Given the description of an element on the screen output the (x, y) to click on. 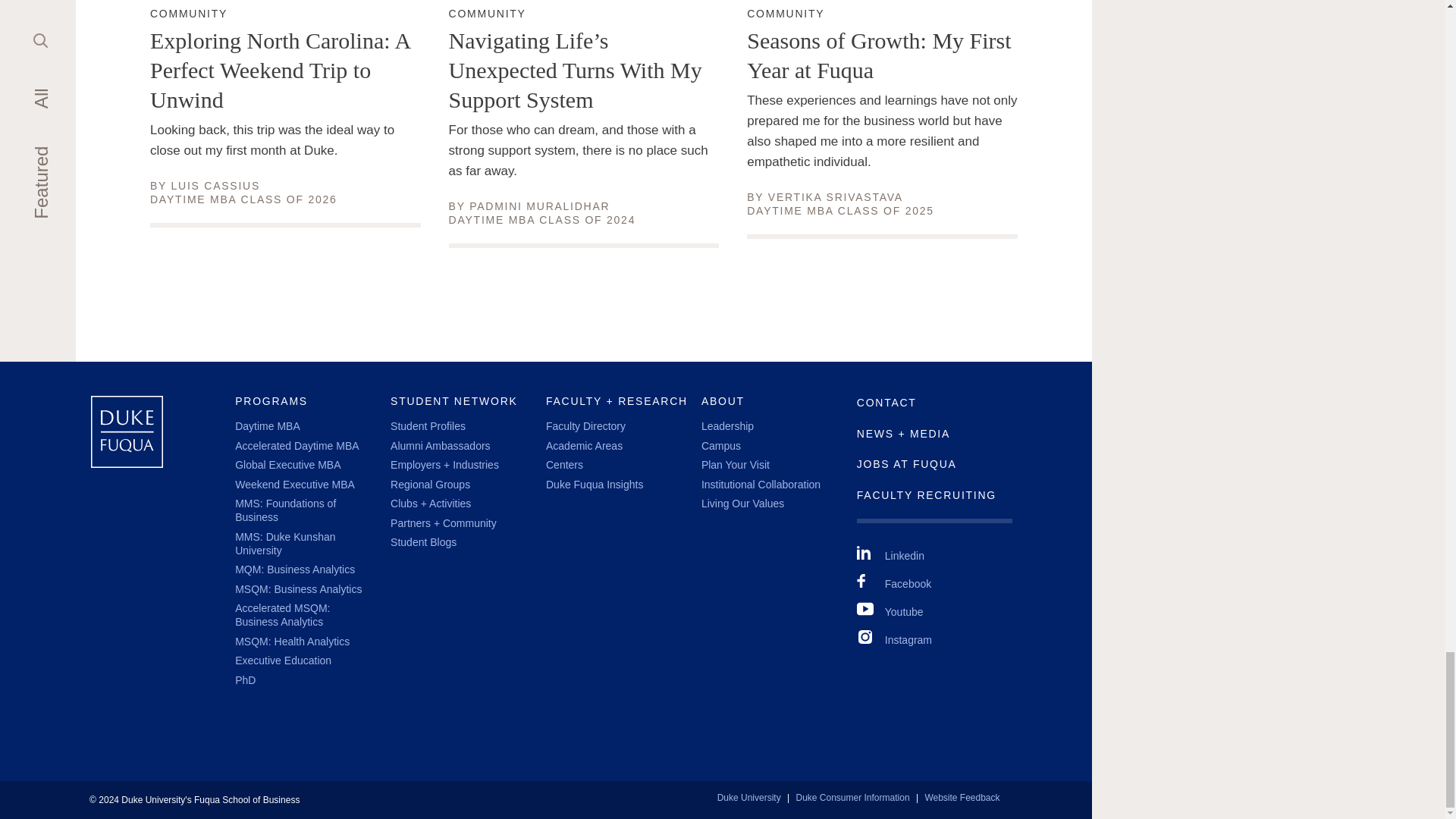
Global Executive MBA (287, 464)
Daytime MBA (539, 205)
MSQM: Business Analytics (266, 426)
Accelerated Daytime MBA (297, 589)
MMS: Foundations of Business (785, 14)
